Given the description of an element on the screen output the (x, y) to click on. 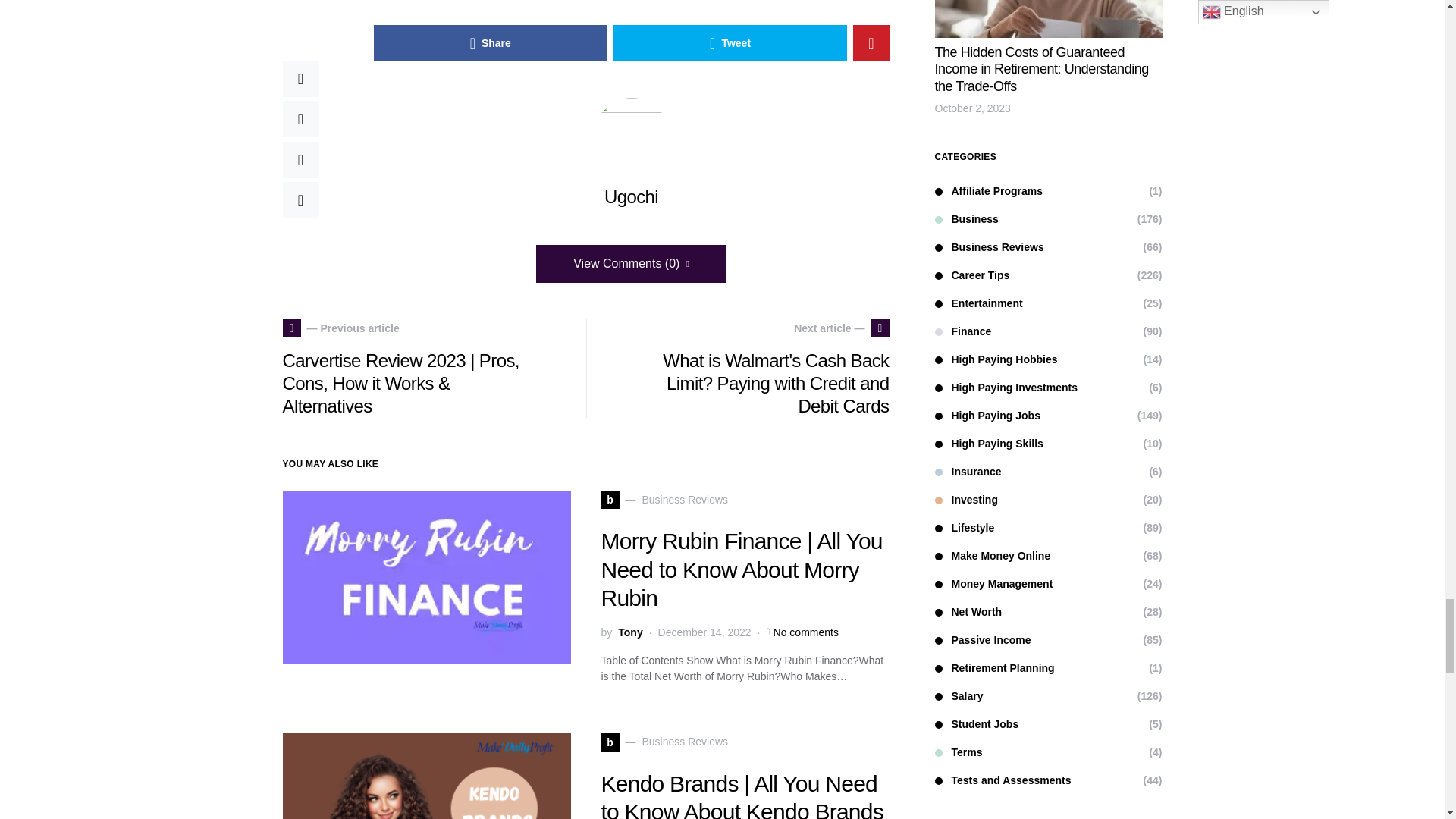
View all posts by Tony (629, 632)
